Given the description of an element on the screen output the (x, y) to click on. 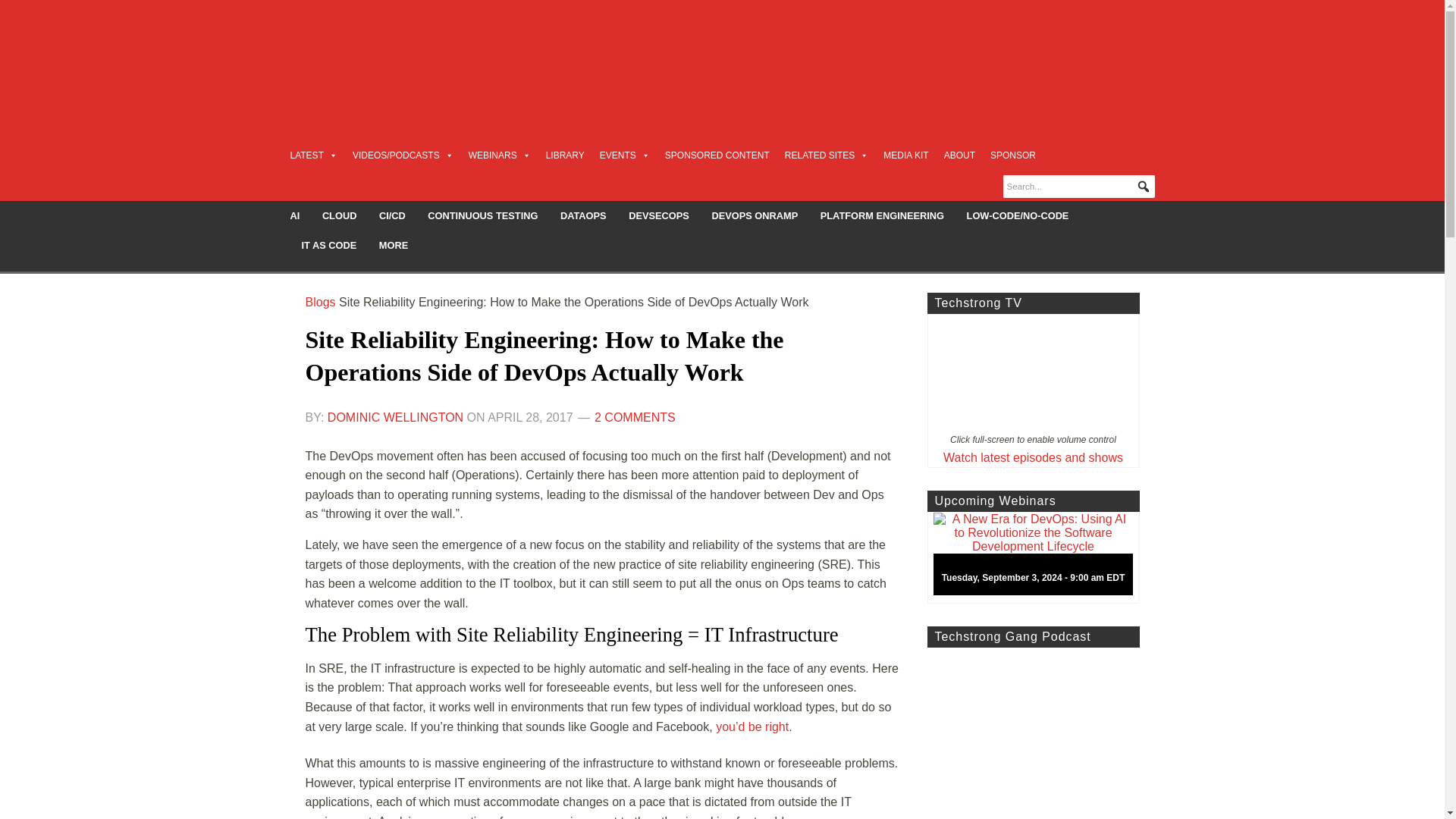
WEBINARS (499, 155)
LIBRARY (565, 155)
Techstrong Gang (1032, 733)
RELATED SITES (825, 155)
DEVOPS.COM (414, 56)
SPONSORED CONTENT (717, 155)
LATEST (312, 155)
Tuesday, September 3, 2024 - 9:00 am EDT (1038, 557)
EVENTS (624, 155)
